Given the description of an element on the screen output the (x, y) to click on. 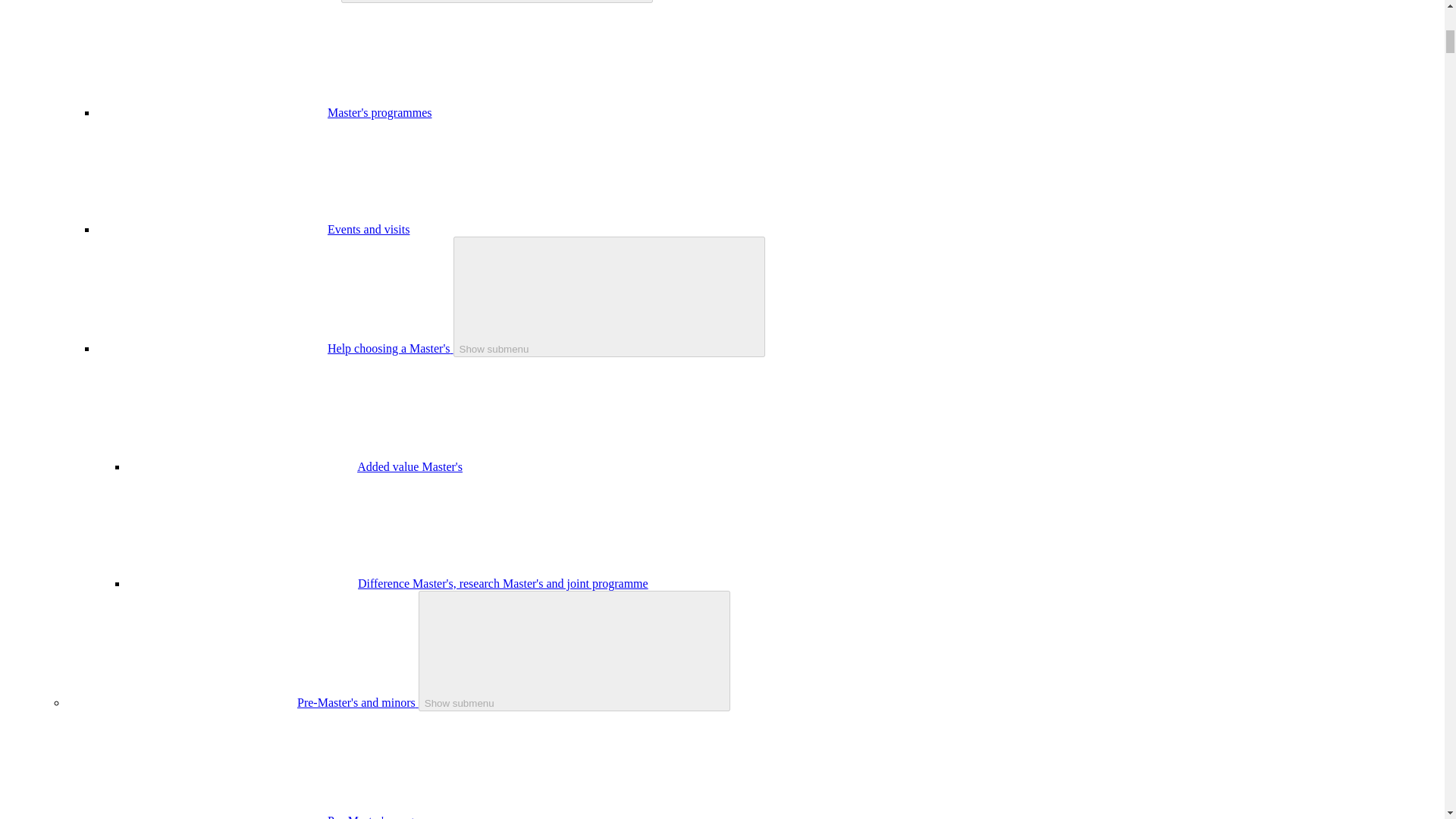
Master's programmes (379, 112)
Show submenu (574, 650)
Added value Master's (409, 466)
Pre-Master's and minors (358, 702)
Difference Master's, research Master's and joint programme (502, 583)
Pre-Master's programmes (389, 816)
Events and visits (368, 228)
Master's (318, 0)
Show submenu (608, 296)
